Given the description of an element on the screen output the (x, y) to click on. 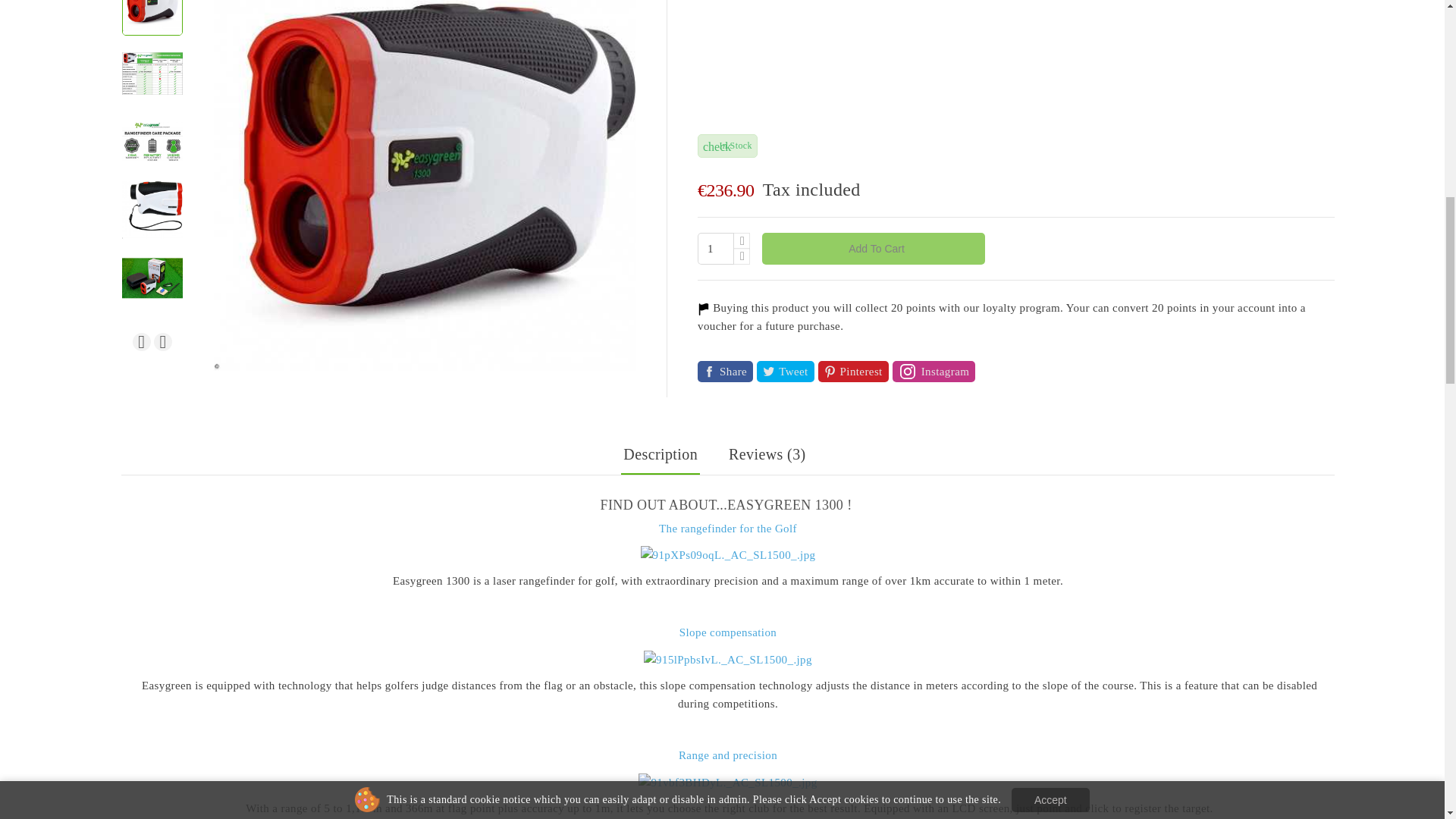
Improve Your Golf Game with Easy Green Rangefinder (425, 49)
1 (715, 248)
